Given the description of an element on the screen output the (x, y) to click on. 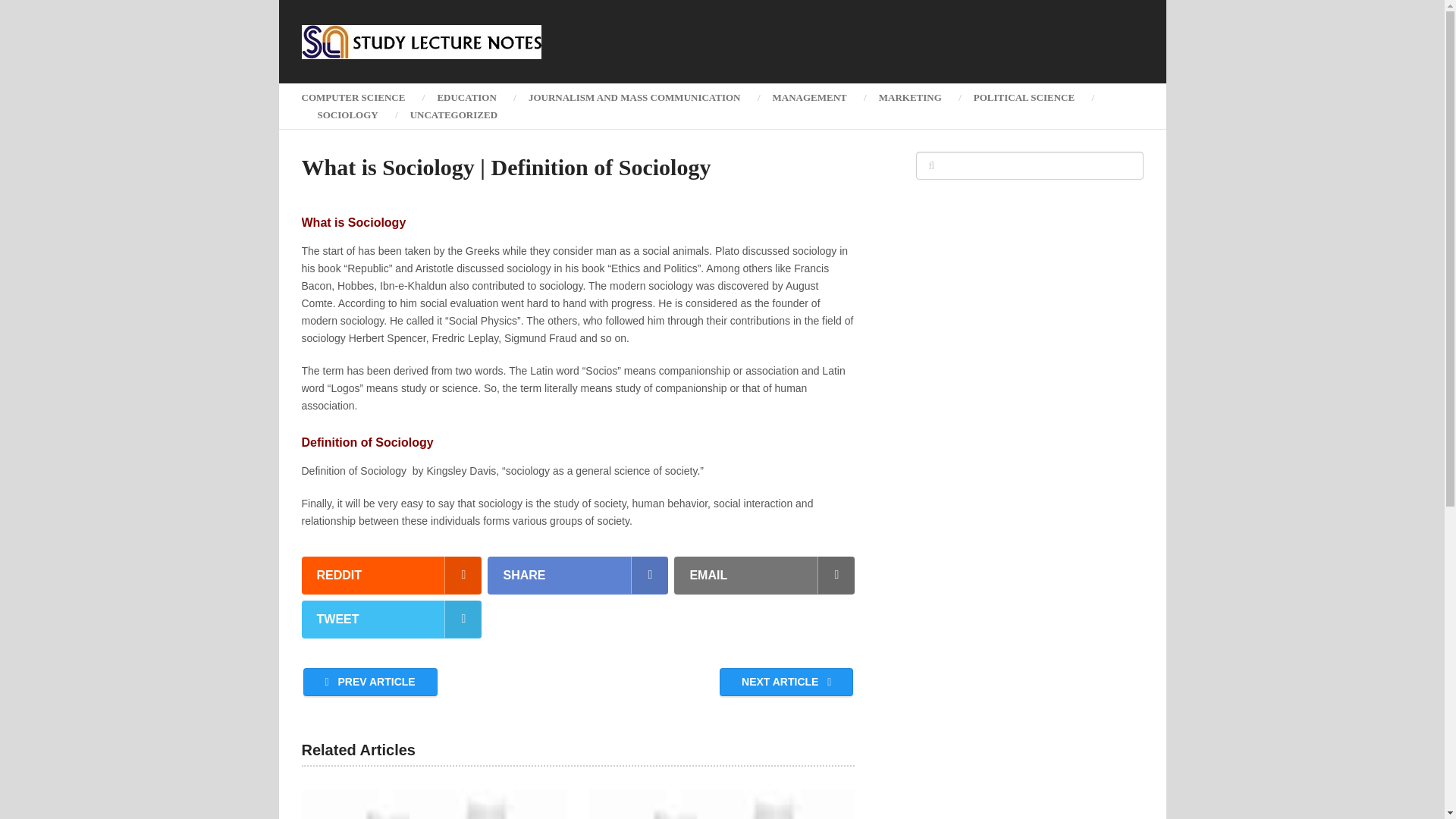
NEXT ARTICLE (786, 682)
EMAIL (764, 575)
REDDIT (391, 575)
COMPUTER SCIENCE (361, 97)
SHARE (577, 575)
SOCIOLOGY (347, 114)
POLITICAL SCIENCE (1024, 97)
What are the Causes of Urbanization (721, 804)
TWEET (391, 619)
UNCATEGORIZED (453, 114)
PREV ARTICLE (370, 682)
Positive and Negative Effects of Ethnocentrism in Society (434, 804)
EDUCATION (466, 97)
MARKETING (910, 97)
MANAGEMENT (810, 97)
